Given the description of an element on the screen output the (x, y) to click on. 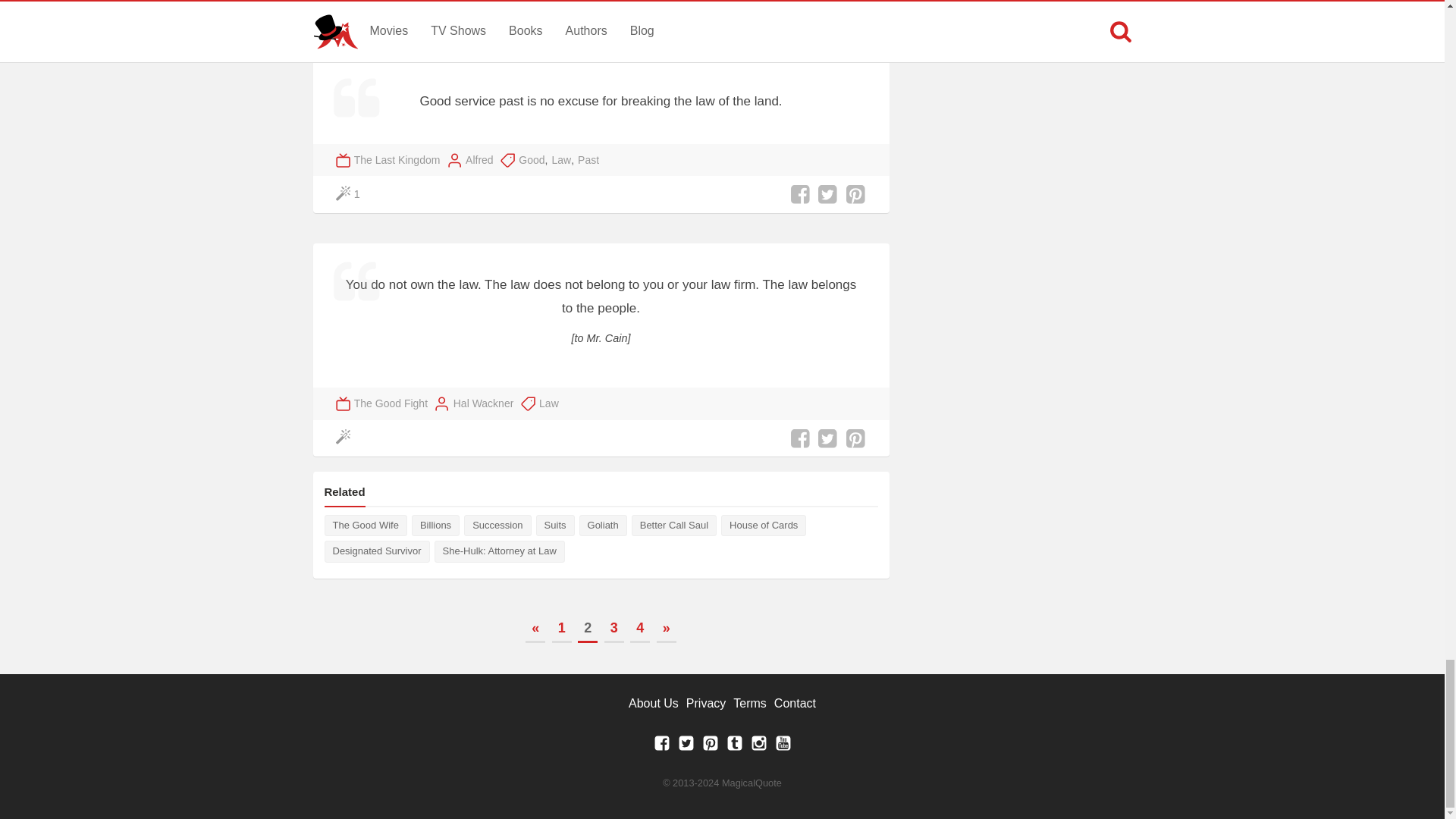
Pinterest (710, 747)
Twitter (686, 747)
Do Some Magic! (345, 438)
Do Some Magic! (348, 26)
Facebook (661, 747)
Do Some Magic! (348, 194)
